Given the description of an element on the screen output the (x, y) to click on. 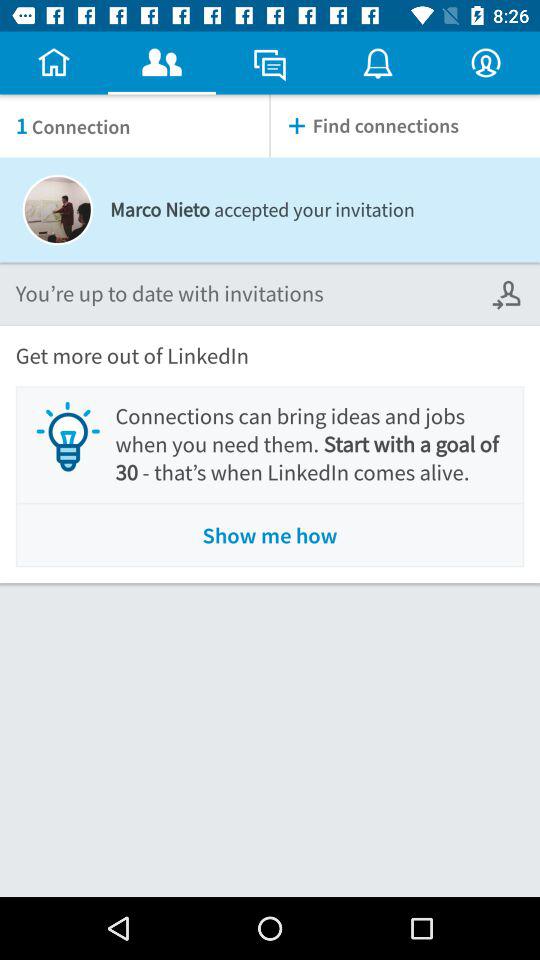
launch icon next to find connections item (134, 125)
